Given the description of an element on the screen output the (x, y) to click on. 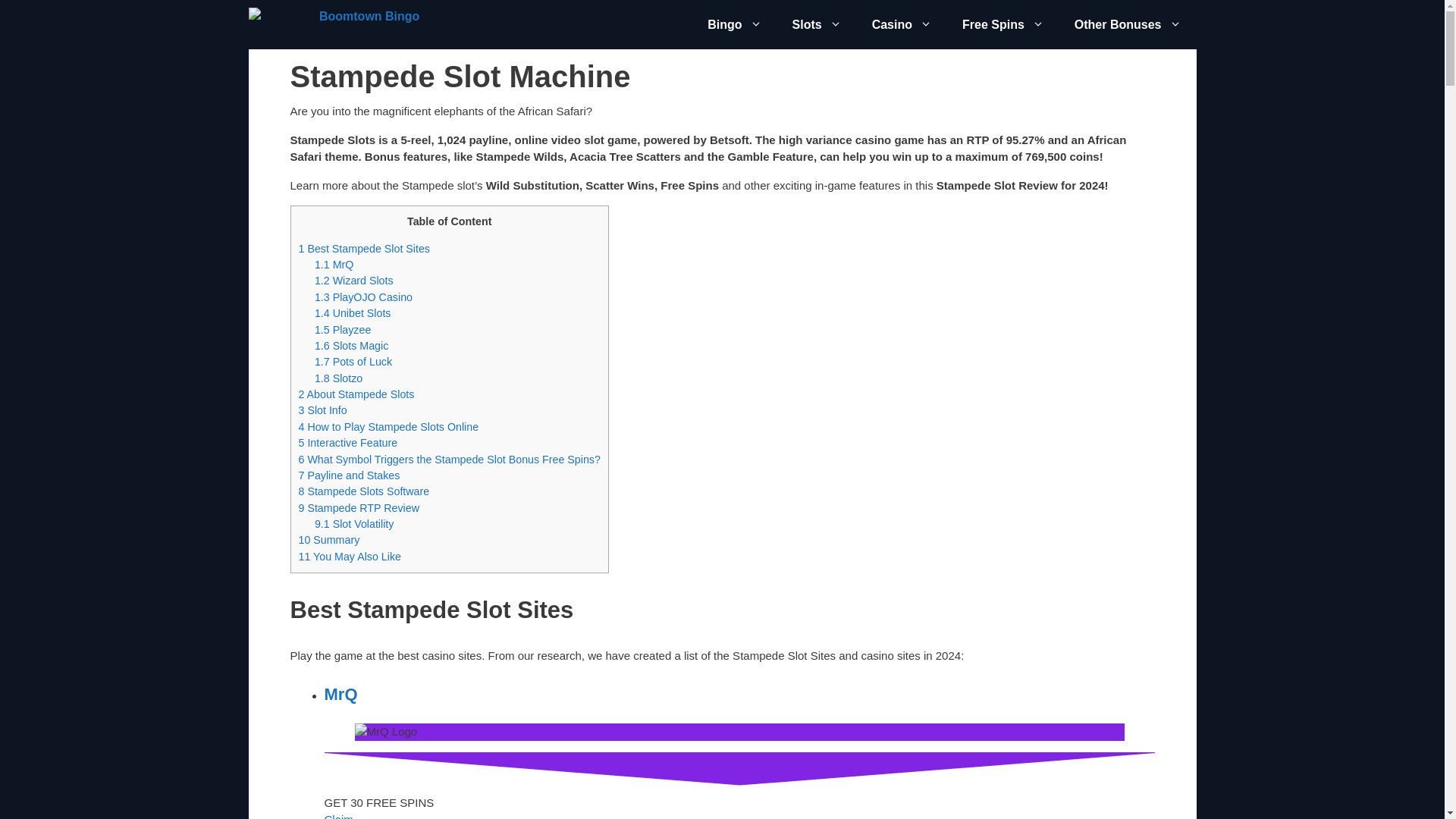
Casino (902, 24)
Slots (817, 24)
Boomtown Bingo (334, 24)
Boomtown Bingo (338, 24)
Bingo (734, 24)
MrQ Logo (386, 732)
